Given the description of an element on the screen output the (x, y) to click on. 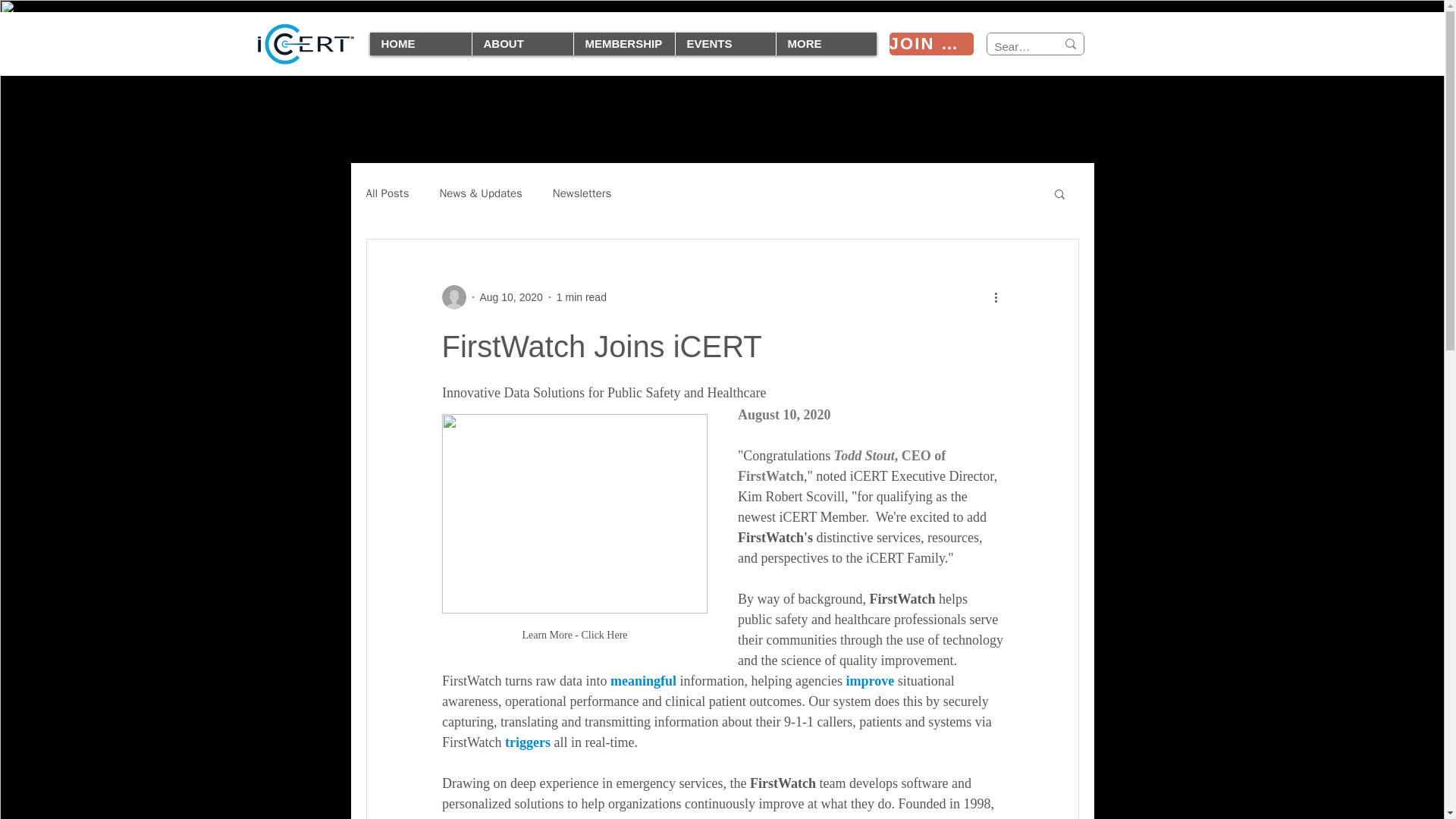
Aug 10, 2020 (510, 297)
Newsletters (582, 193)
HOME (420, 43)
All Posts (387, 193)
ABOUT (522, 43)
EVENTS (725, 43)
MEMBERSHIP (624, 43)
1 min read (581, 297)
JOIN NOW (930, 43)
